Given the description of an element on the screen output the (x, y) to click on. 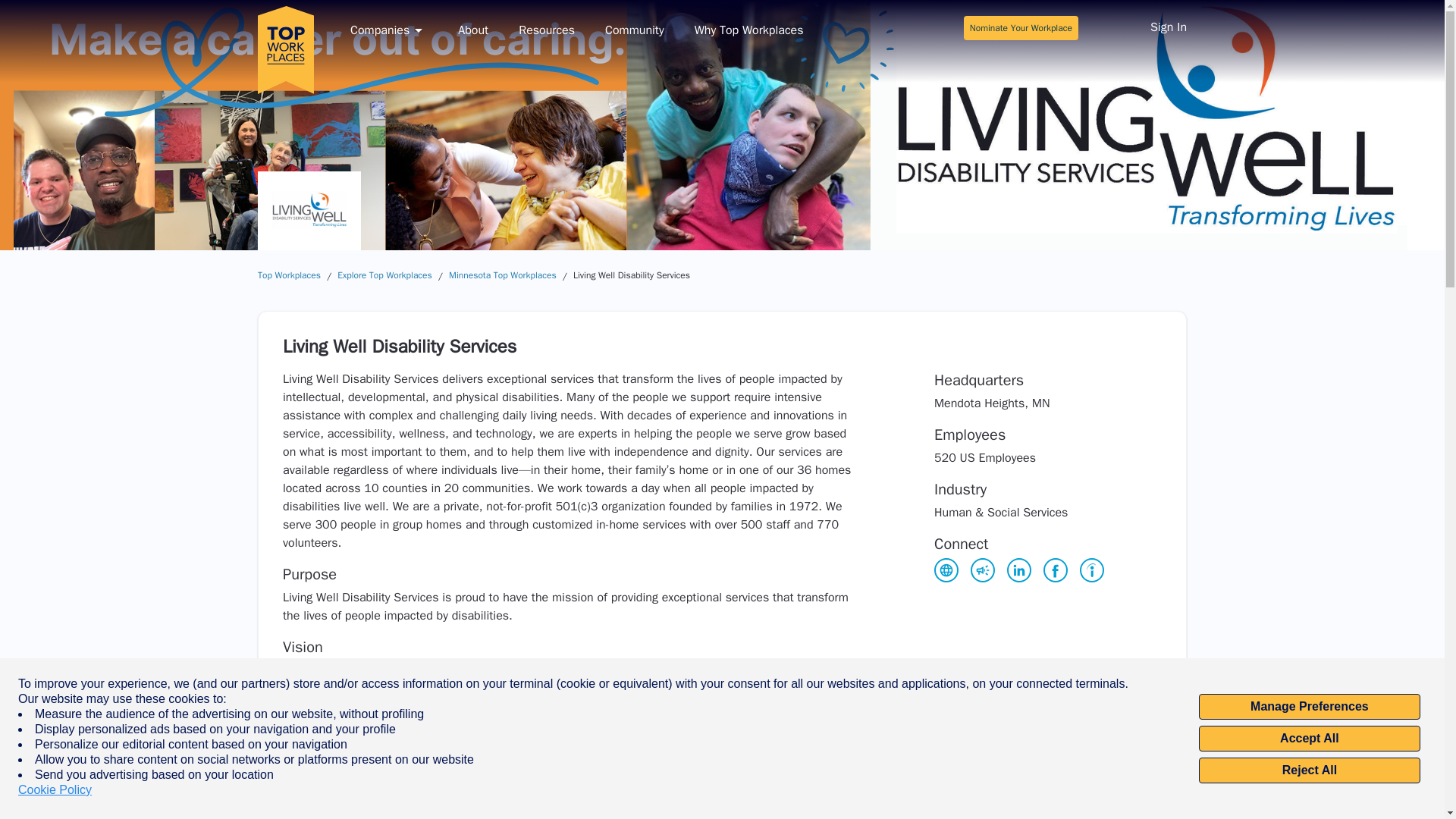
Minnesota Top Workplaces (502, 275)
Sign In (1168, 28)
Why Top Workplaces (748, 30)
Top Workplaces (288, 275)
Accept All (1309, 738)
Community (634, 30)
Explore Top Workplaces (384, 275)
Manage Preferences (1309, 706)
Reject All (1309, 769)
Nominate Your Workplace (1020, 27)
Cookie Policy (54, 789)
About (472, 30)
Companies (389, 30)
Resources (546, 30)
